Given the description of an element on the screen output the (x, y) to click on. 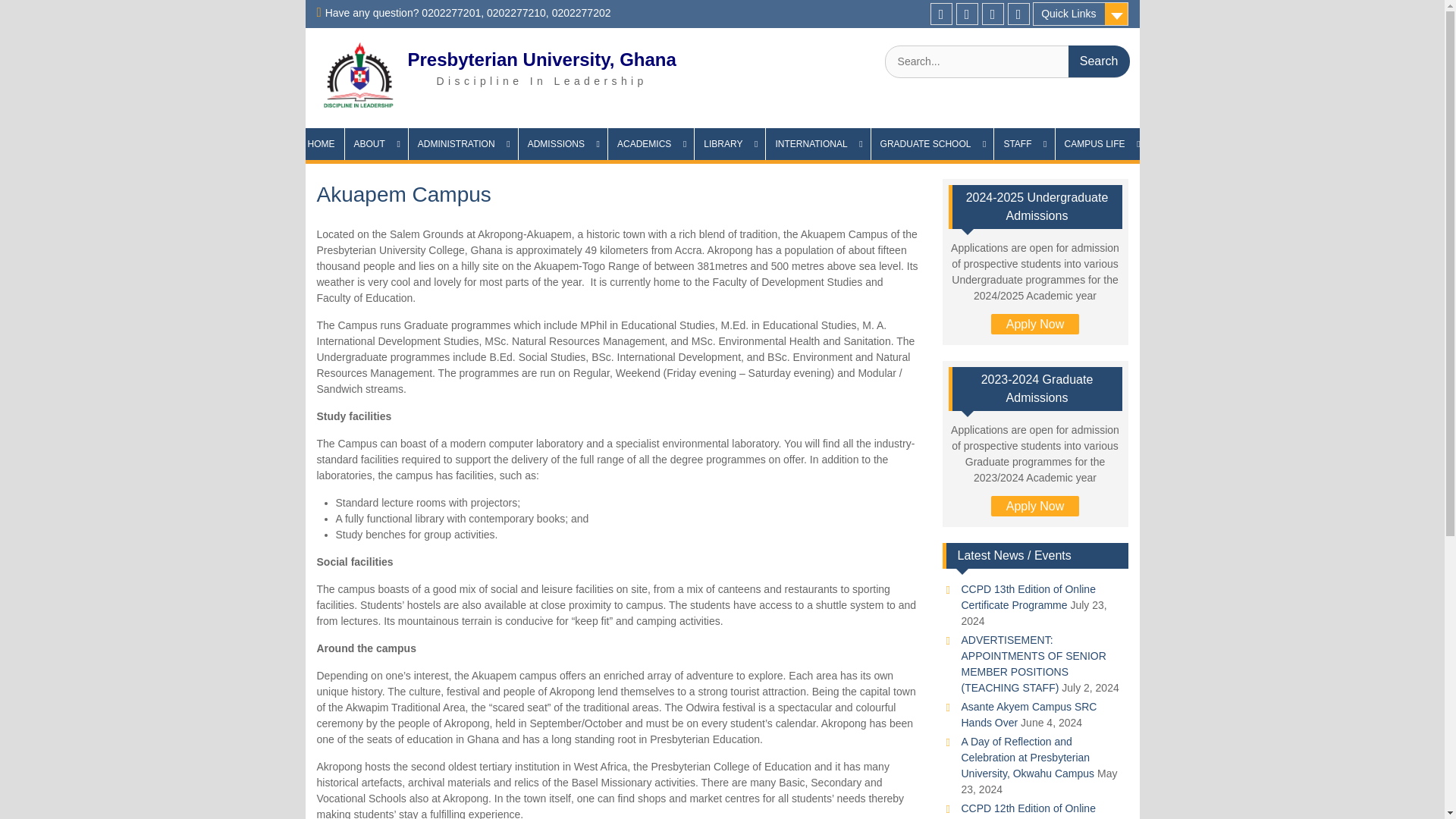
Search for: (1006, 61)
YouTube (1018, 14)
Presbyterian University, Ghana (542, 59)
Have any question? 0202277201, 0202277210, 0202277202 (467, 12)
Quick Links (1079, 13)
Twitter (967, 14)
ADMISSIONS (563, 143)
Search (1098, 60)
Search (1098, 60)
Facebook (992, 14)
HOME (320, 143)
ABOUT (375, 143)
Instagram (941, 14)
ADMINISTRATION (463, 143)
Search (1098, 60)
